Given the description of an element on the screen output the (x, y) to click on. 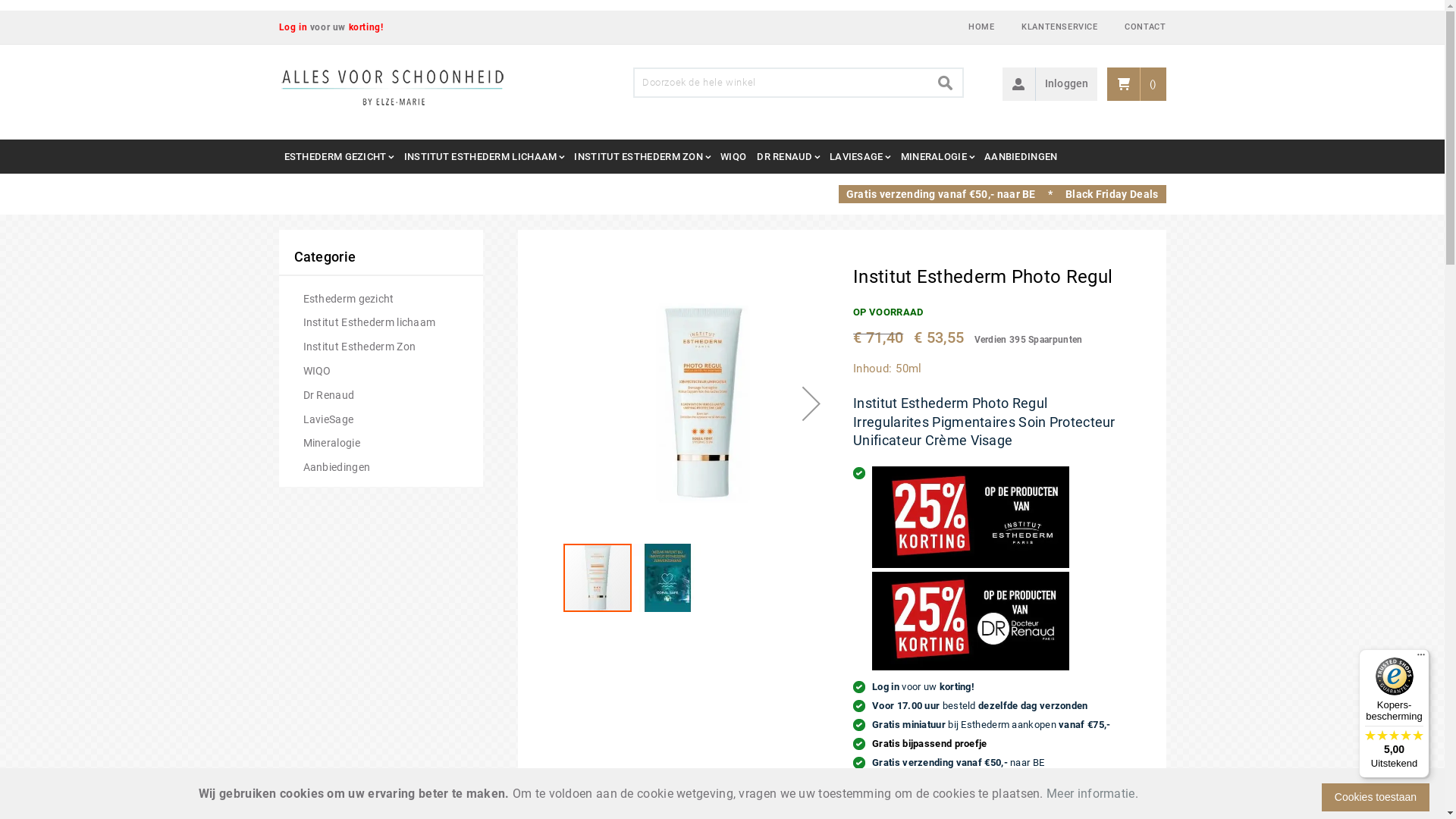
Inloggen Element type: text (1066, 83)
CONTACT Element type: text (1144, 26)
LAVIESAGE Element type: text (859, 156)
Mineralogie Element type: text (331, 442)
INSTITUT ESTHEDERM LICHAAM Element type: text (483, 156)
KLANTENSERVICE Element type: text (1059, 26)
AANBIEDINGEN Element type: text (1021, 156)
Institut Esthederm lichaam Element type: text (369, 322)
HOME Element type: text (981, 26)
Cookies toestaan Element type: text (1375, 797)
Meer informatie Element type: text (1090, 793)
INSTITUT ESTHEDERM ZON Element type: text (641, 156)
LavieSage Element type: text (328, 419)
WIQO Element type: text (733, 156)
Alles voor schoonheid by Elze-Marie Element type: hover (392, 87)
DR RENAUD Element type: text (787, 156)
Zoek Element type: text (946, 82)
Aanbiedingen Element type: text (336, 467)
() Element type: text (1136, 83)
WIQO Element type: text (317, 370)
Institut Esthederm Zon Element type: text (359, 346)
Dr Renaud Element type: text (328, 395)
Esthederm gezicht Element type: text (348, 298)
ESTHEDERM GEZICHT Element type: text (338, 156)
MINERALOGIE Element type: text (937, 156)
